Given the description of an element on the screen output the (x, y) to click on. 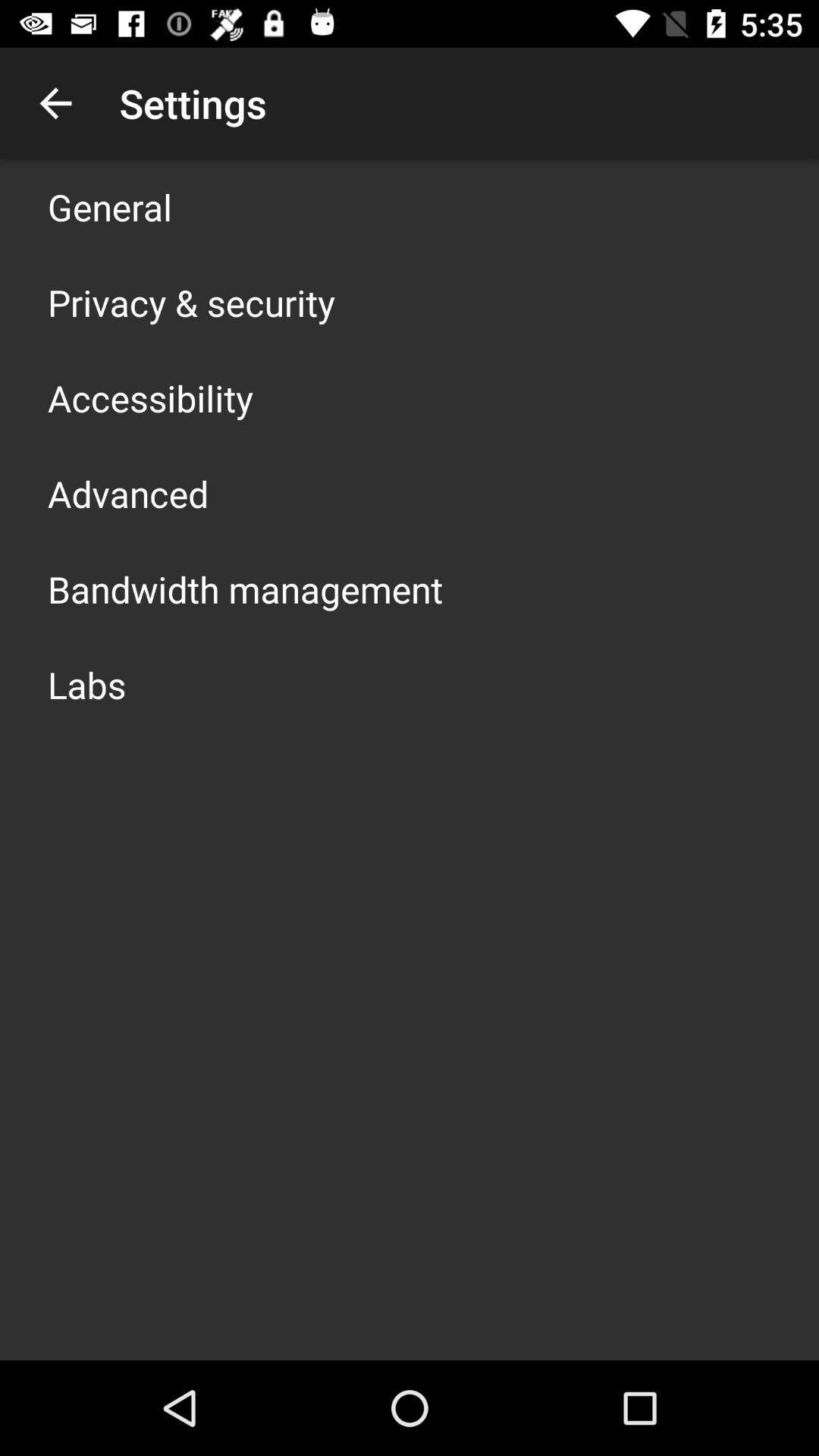
tap the app above accessibility app (190, 302)
